Given the description of an element on the screen output the (x, y) to click on. 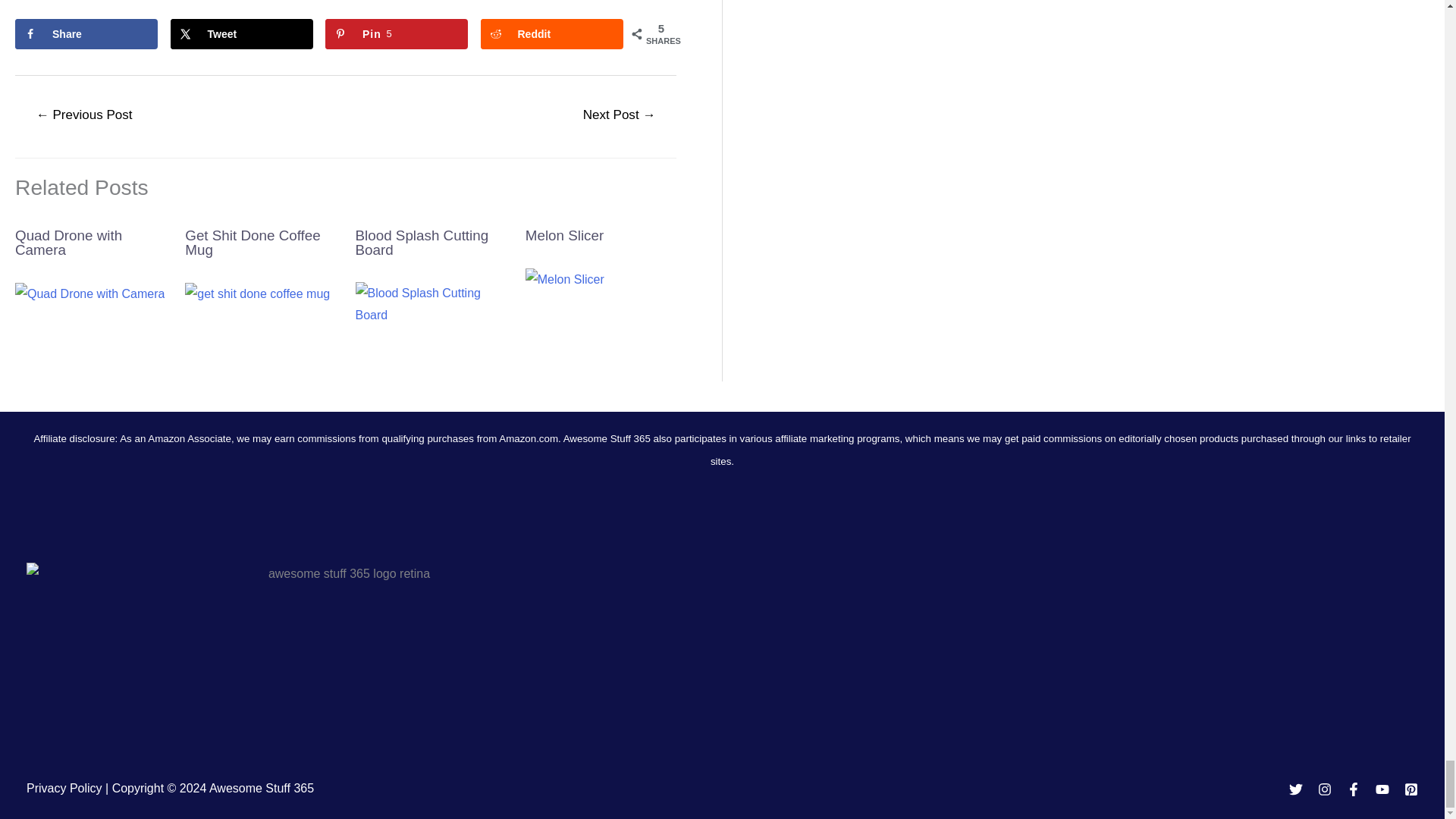
Share on Reddit (551, 33)
Save to Pinterest (395, 33)
Share on X (241, 33)
Share on Facebook (85, 33)
